Given the description of an element on the screen output the (x, y) to click on. 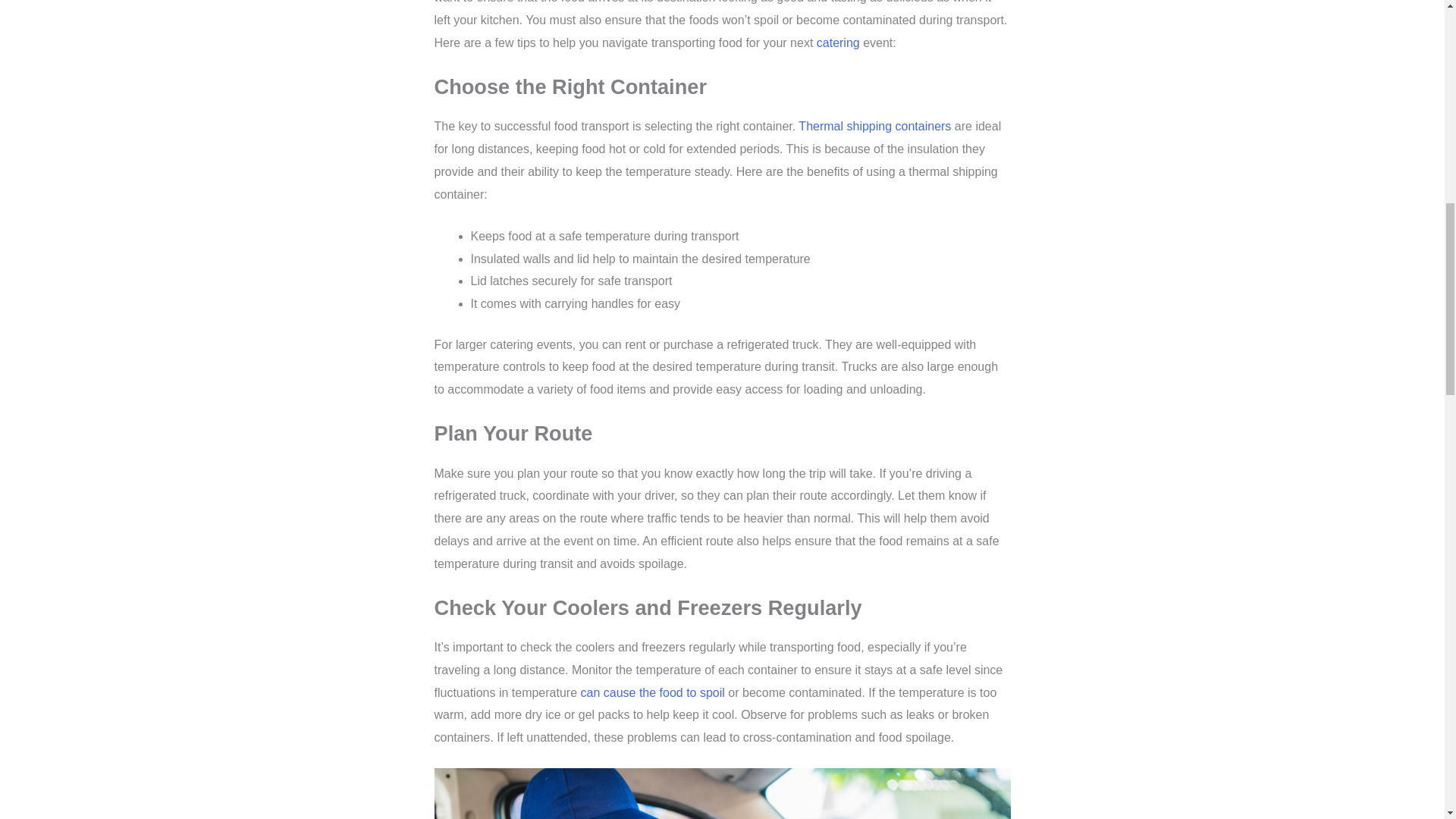
can cause the food to spoil (652, 692)
Delivery man (721, 793)
catering (838, 42)
Thermal shipping containers (873, 125)
